Given the description of an element on the screen output the (x, y) to click on. 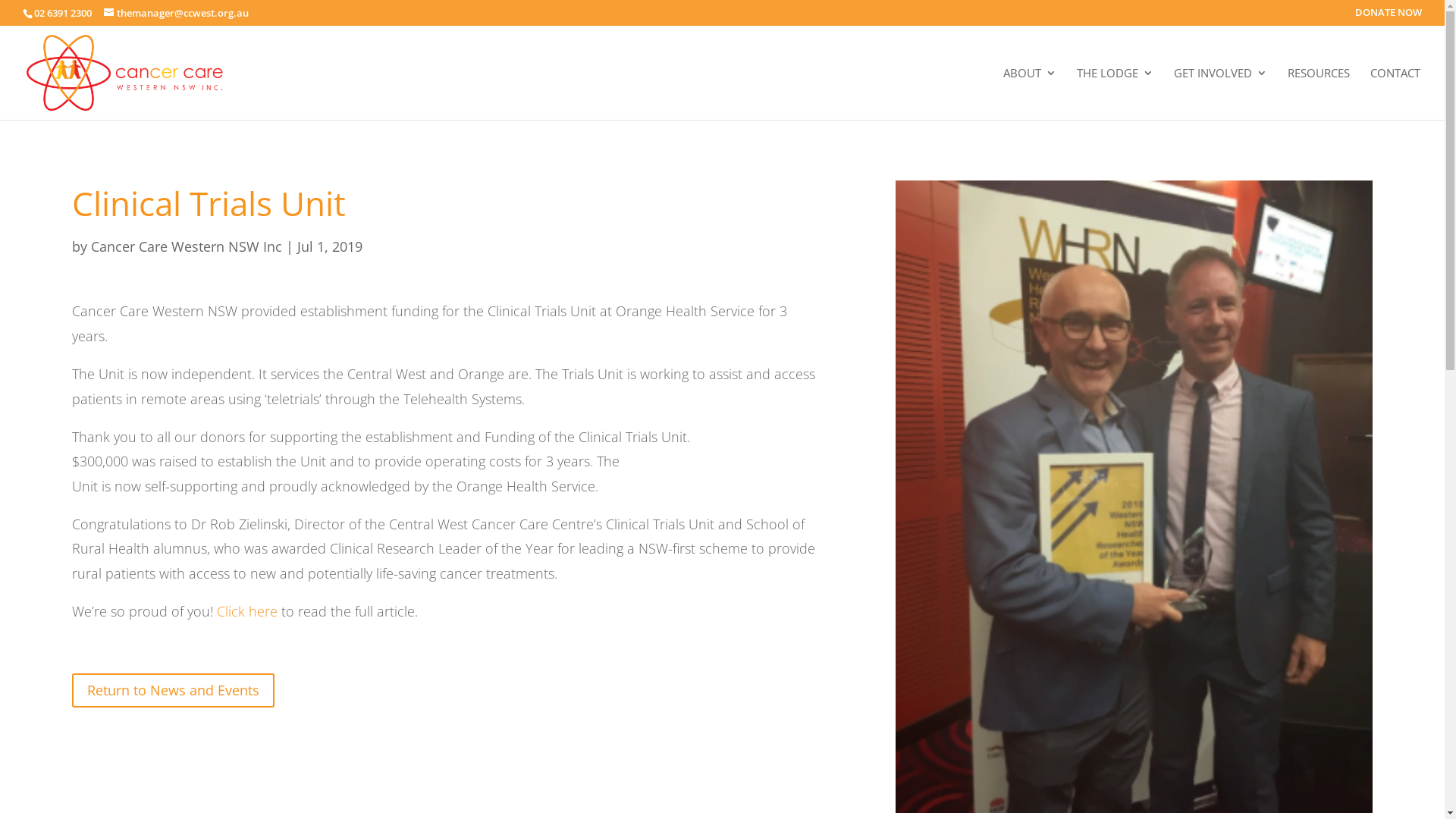
Cancer Care Western NSW Inc Element type: text (186, 246)
Return to News and Events Element type: text (173, 690)
RESOURCES Element type: text (1318, 92)
themanager@ccwest.org.au Element type: text (175, 12)
DONATE NOW Element type: text (1388, 16)
Click here Element type: text (246, 611)
THE LODGE Element type: text (1114, 92)
GET INVOLVED Element type: text (1220, 92)
CONTACT Element type: text (1395, 92)
ABOUT Element type: text (1029, 92)
02 6391 2300 Element type: text (62, 12)
